Given the description of an element on the screen output the (x, y) to click on. 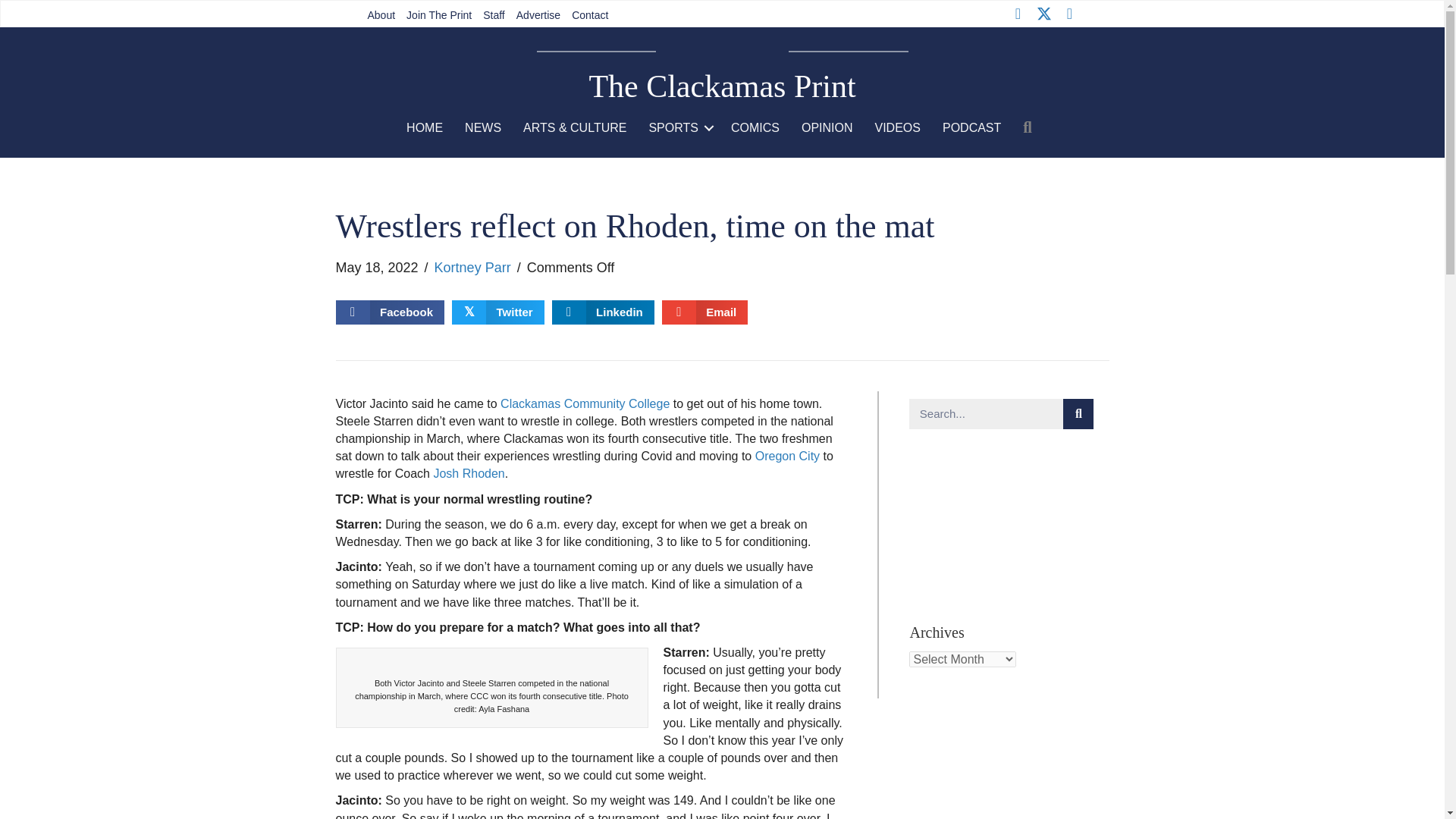
Oregon City (787, 455)
Advertise (538, 14)
Clackamas Community College (584, 403)
Kortney Parr (472, 267)
Facebook (1017, 13)
SEARCH (1029, 127)
The Clackamas Print (722, 86)
Contact (589, 14)
HOME (424, 127)
NEWS (483, 127)
About (381, 14)
Linkedin (602, 312)
Join The Print (439, 14)
Search (985, 413)
OPINION (826, 127)
